Given the description of an element on the screen output the (x, y) to click on. 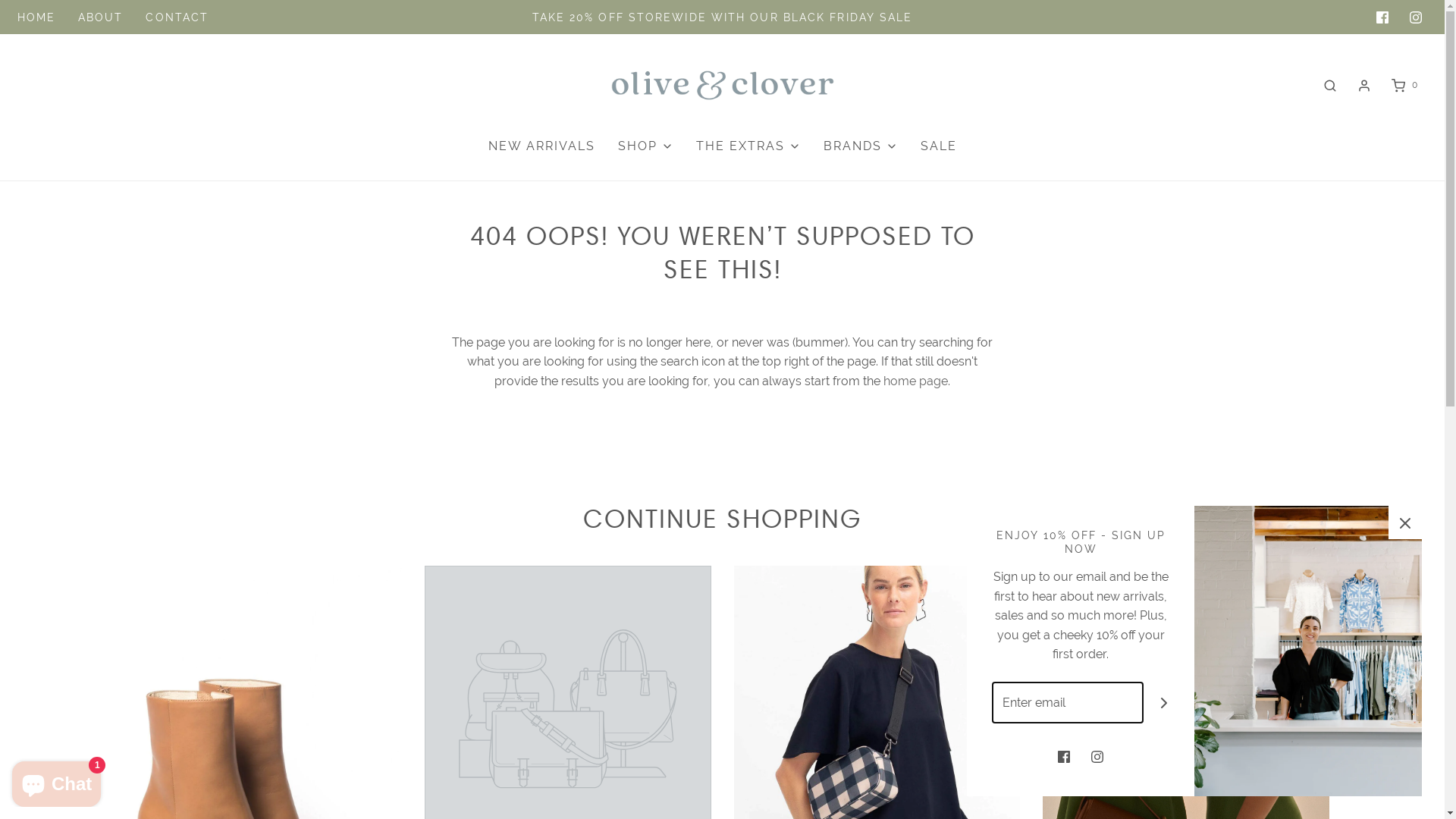
0 Element type: text (1402, 85)
home page Element type: text (915, 380)
HOME Element type: text (35, 16)
BRANDS Element type: text (860, 146)
CONTACT Element type: text (176, 16)
ABOUT Element type: text (100, 16)
Search Element type: hover (1329, 85)
THE EXTRAS Element type: text (748, 146)
SHOP Element type: text (644, 146)
SALE Element type: text (938, 146)
Shopify online store chat Element type: hover (56, 780)
NEW ARRIVALS Element type: text (541, 146)
Log in Element type: hover (1364, 85)
